Given the description of an element on the screen output the (x, y) to click on. 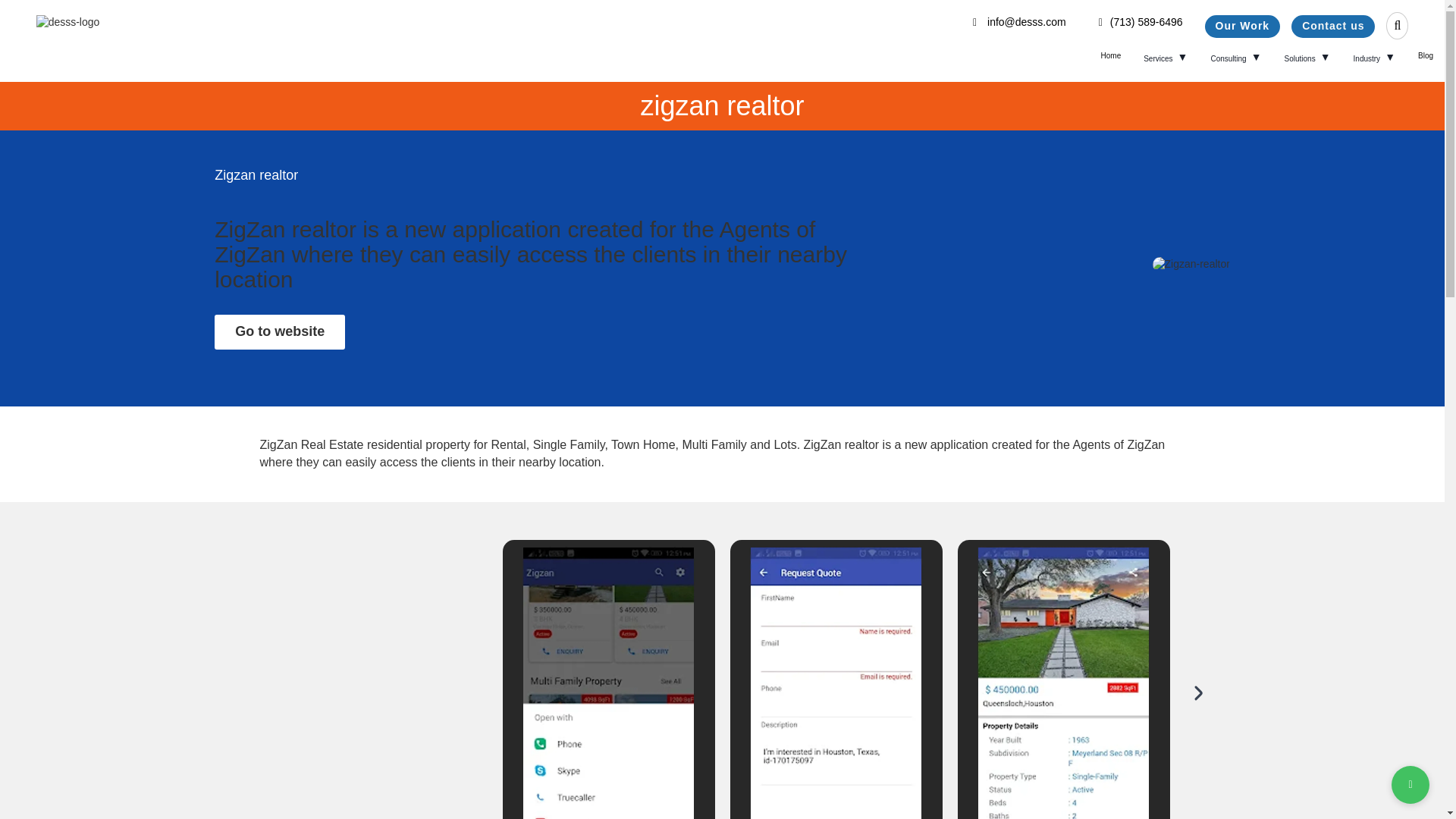
Zigzan-realtor (1191, 264)
Our Work (1243, 26)
Contact us (1332, 26)
desss-logo (68, 22)
